Given the description of an element on the screen output the (x, y) to click on. 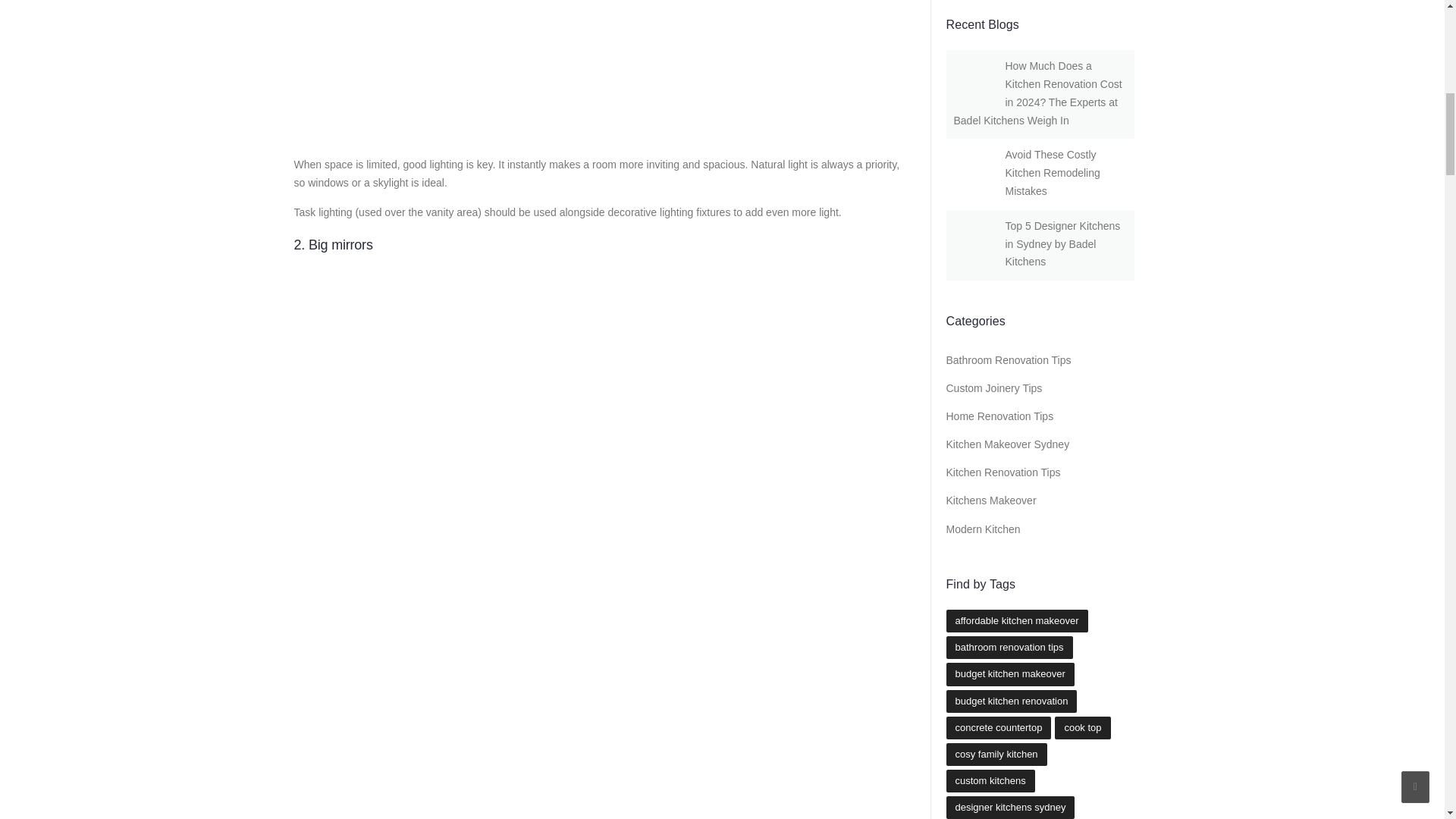
Avoid These Costly Kitchen Remodeling Mistakes (1053, 172)
Bathroom Renovation Tips (1008, 359)
Top 5 Designer Kitchens in Sydney by Badel Kitchens (1063, 244)
Custom Joinery Tips (994, 387)
Top 5 Designer Kitchens in Sydney by Badel Kitchens (1063, 244)
